Given the description of an element on the screen output the (x, y) to click on. 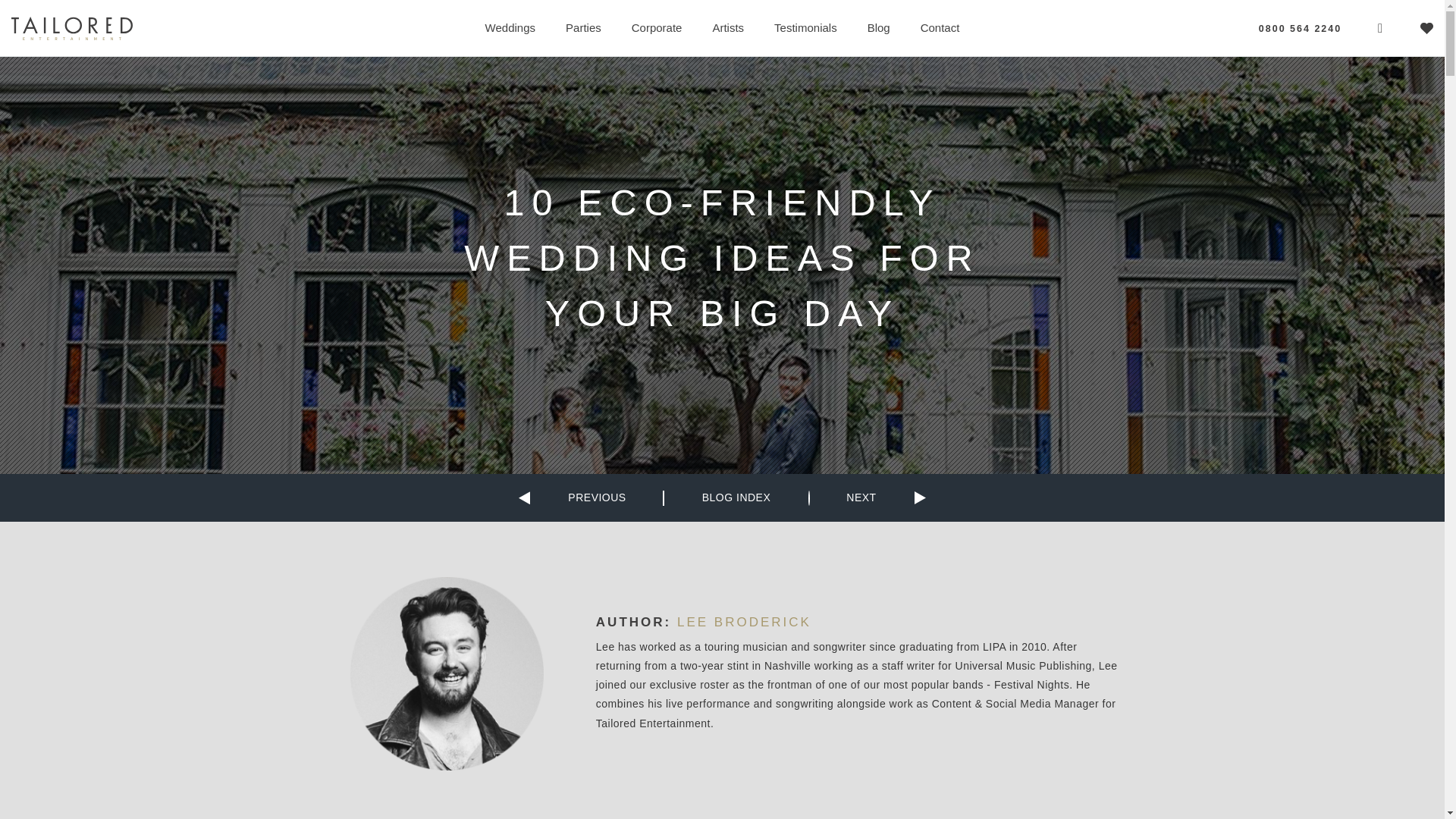
Weddings (509, 27)
